Given the description of an element on the screen output the (x, y) to click on. 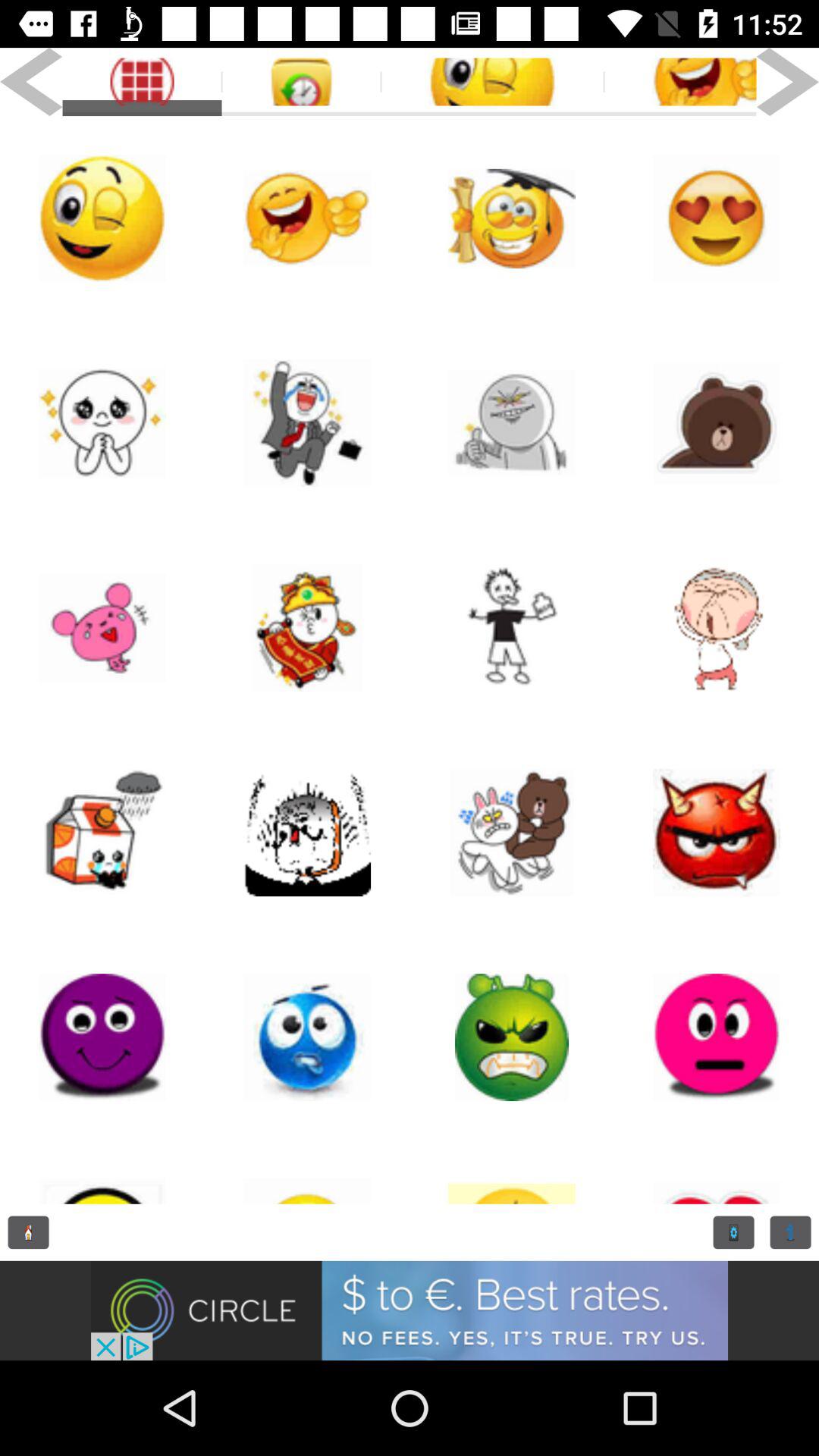
laughing emoji (306, 218)
